Given the description of an element on the screen output the (x, y) to click on. 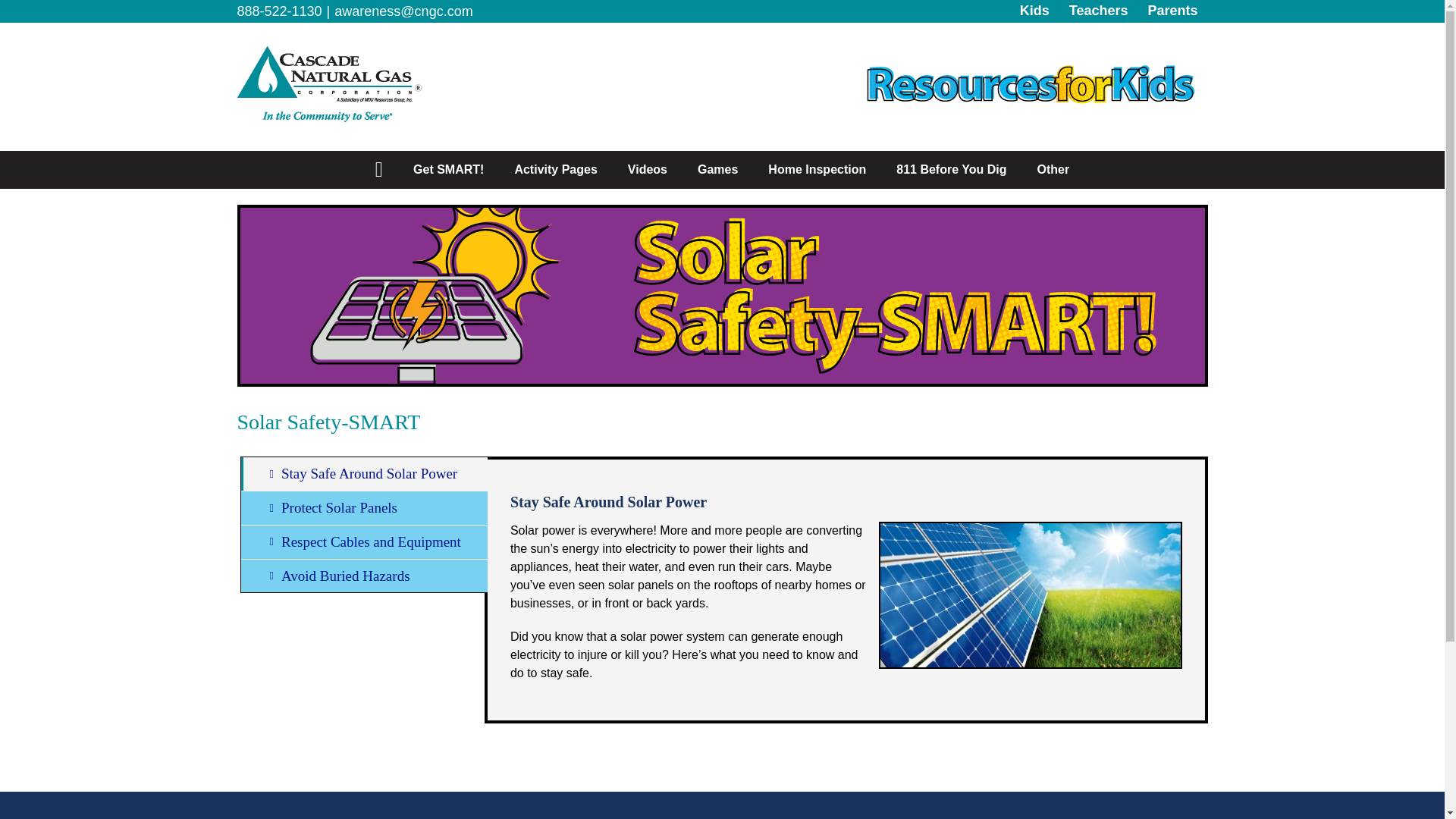
Videos (647, 169)
Teachers (1098, 11)
Other (1053, 169)
Games (717, 169)
Activity Pages (555, 169)
Kids (1034, 11)
Get SMART! (448, 169)
Home Inspection (816, 169)
Parents (1172, 11)
811 Before You Dig (951, 169)
